Given the description of an element on the screen output the (x, y) to click on. 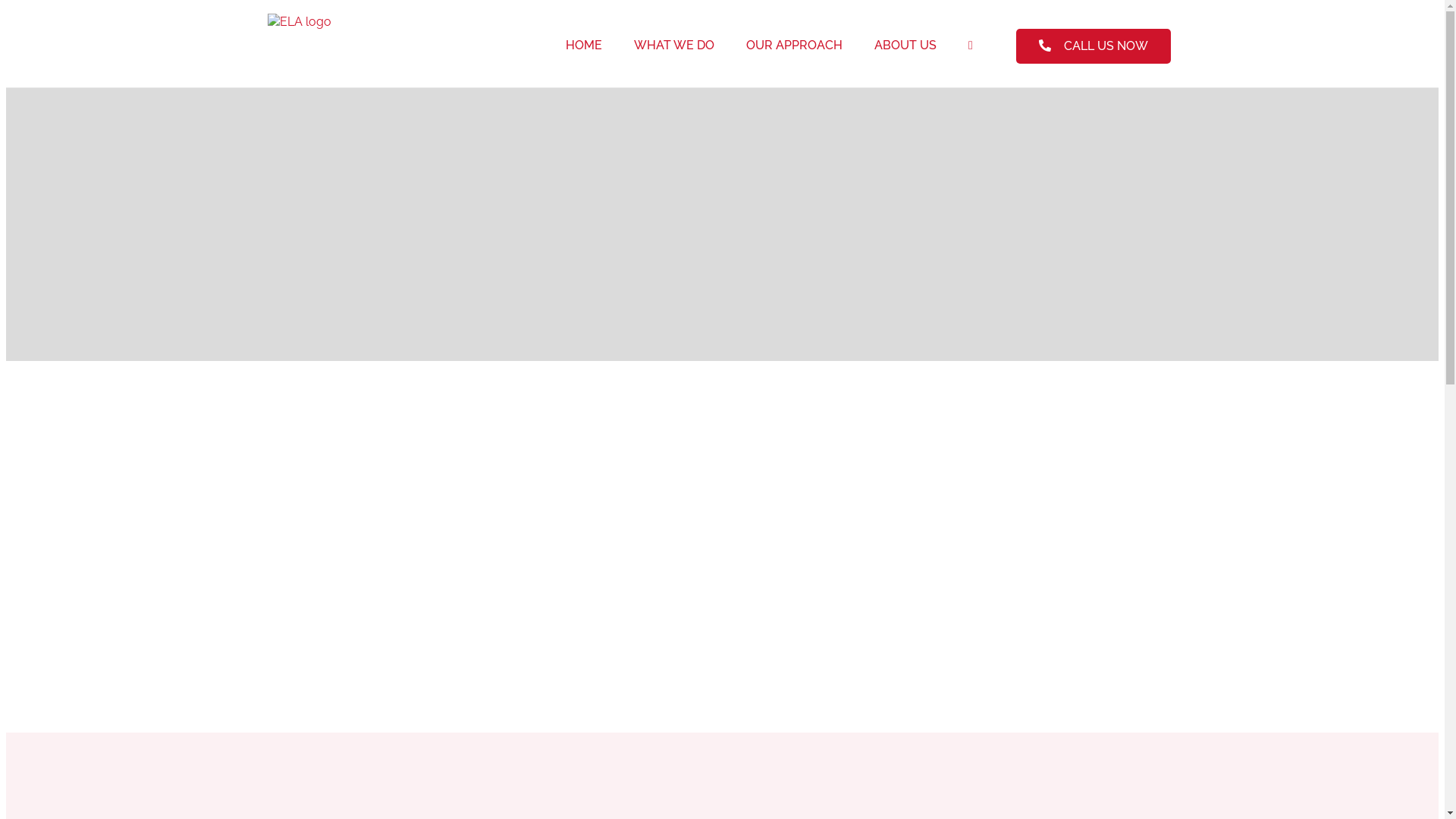
WHAT WE DO Element type: text (673, 45)
ABOUT US Element type: text (905, 45)
HOME Element type: text (583, 45)
CALL US NOW Element type: text (1093, 45)
OUR APPROACH Element type: text (794, 45)
